Given the description of an element on the screen output the (x, y) to click on. 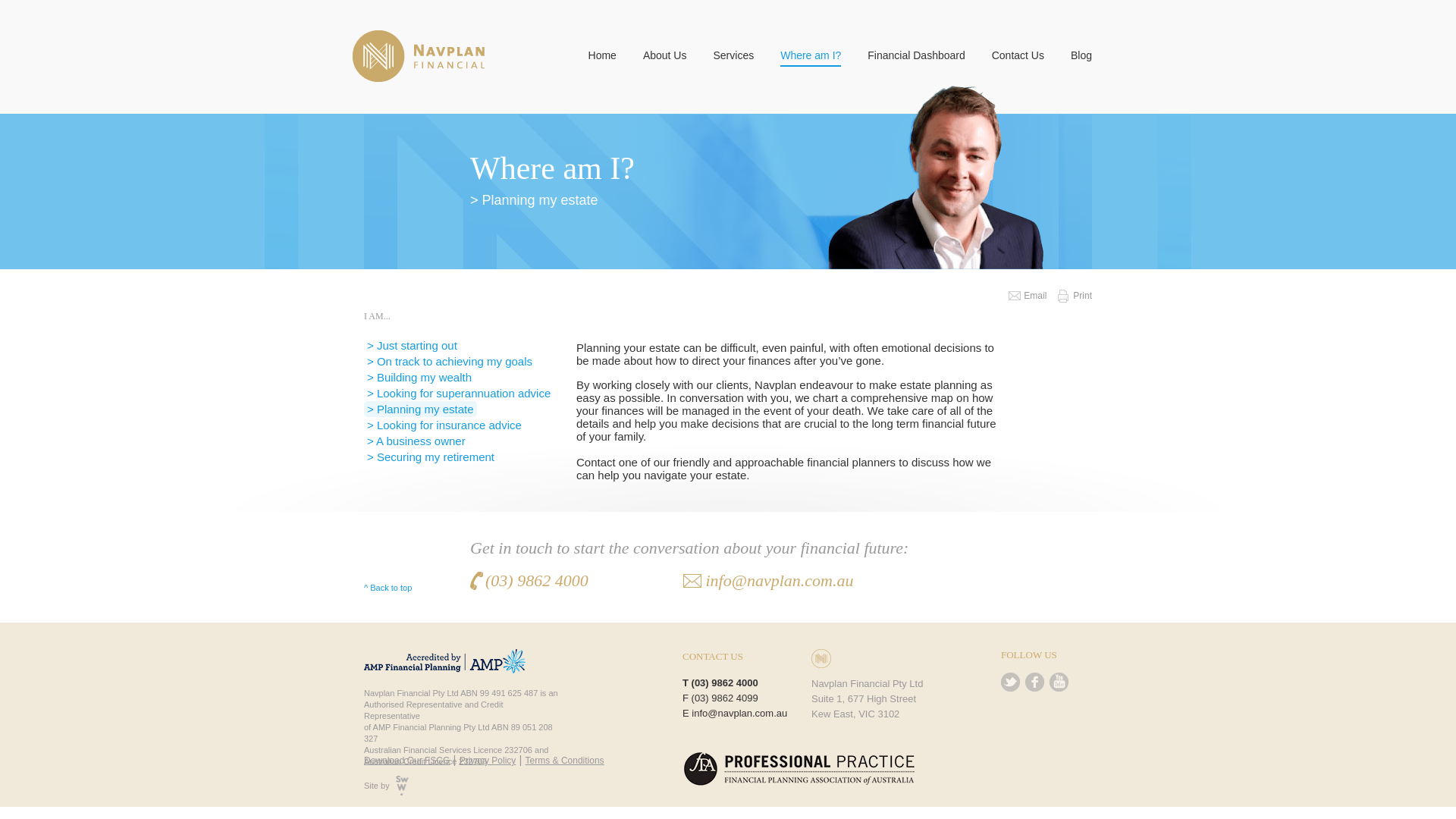
Email Element type: text (1027, 295)
Financial Dashboard Element type: text (915, 57)
info@navplan.com.au Element type: text (739, 712)
About Us Element type: text (665, 57)
> Planning my estate Element type: text (420, 409)
> Building my wealth Element type: text (419, 377)
Home Element type: text (602, 57)
> Securing my retirement Element type: text (430, 456)
> Looking for superannuation advice Element type: text (458, 393)
Facebook Element type: text (1034, 681)
> On track to achieving my goals Element type: text (449, 361)
Youtube Element type: text (1058, 681)
info@navplan.com.au Element type: text (767, 580)
Print Element type: text (1074, 295)
Contact Us Element type: text (1017, 57)
Site by Element type: text (386, 785)
Services Element type: text (732, 57)
> Just starting out Element type: text (412, 345)
Privacy Policy Element type: text (487, 760)
Navplan Financial Element type: text (418, 55)
Blog Element type: text (1081, 57)
^ Back to top Element type: text (387, 587)
Download Our FSCG Element type: text (406, 760)
Terms & Conditions Element type: text (564, 760)
> A business owner Element type: text (416, 440)
Where am I? Element type: text (810, 57)
Twitter Element type: text (1010, 681)
> Looking for insurance advice Element type: text (444, 425)
